Given the description of an element on the screen output the (x, y) to click on. 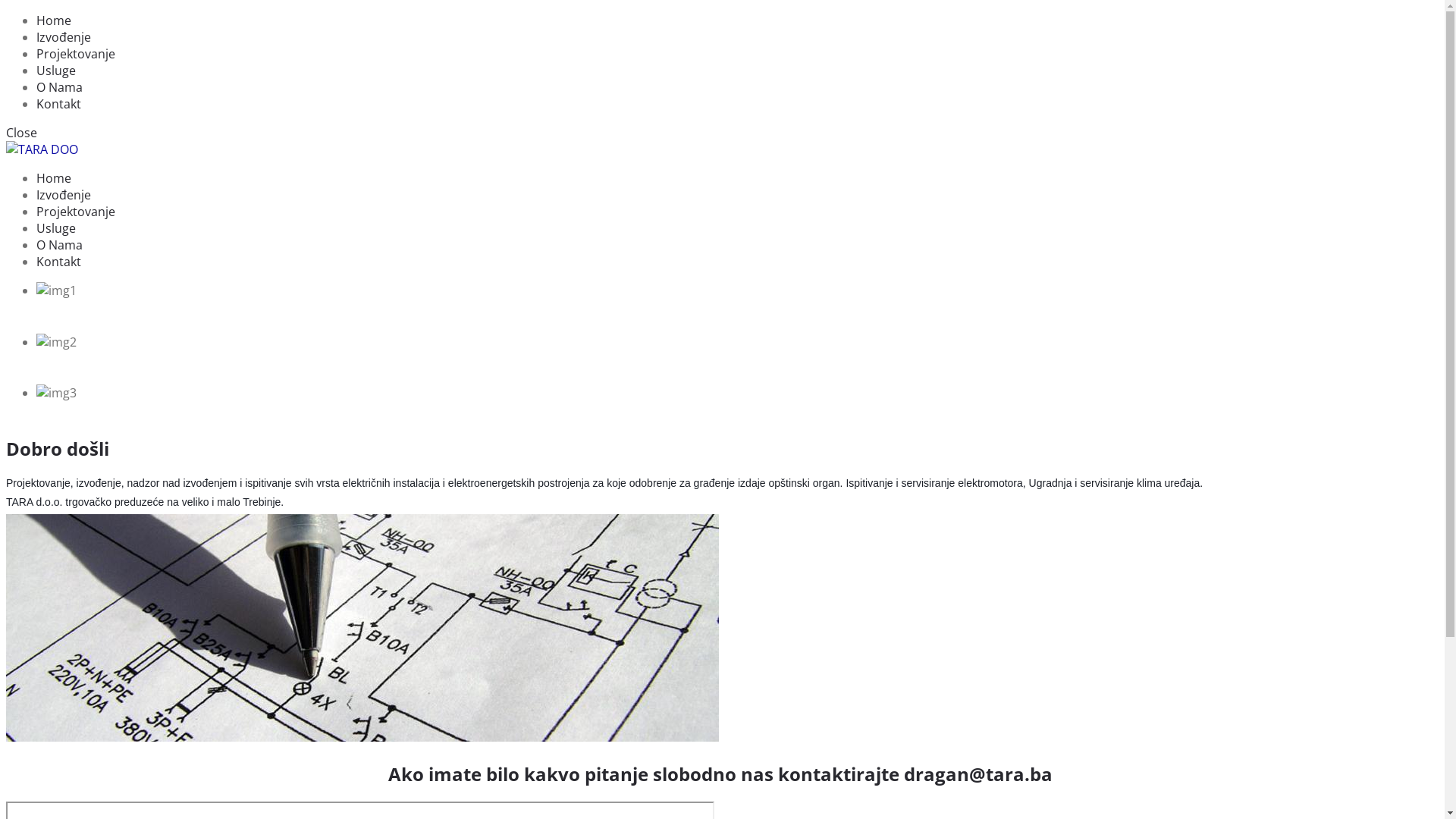
Usluge Element type: text (55, 70)
O Nama Element type: text (59, 244)
O Nama Element type: text (59, 86)
Usluge Element type: text (55, 227)
Close Element type: text (21, 132)
Kontakt Element type: text (58, 103)
Kontakt Element type: text (58, 261)
dragan@tara.ba Element type: text (977, 773)
Home Element type: text (53, 20)
Projektovanje Element type: text (75, 53)
Home Element type: text (53, 177)
Projektovanje Element type: text (75, 211)
